Given the description of an element on the screen output the (x, y) to click on. 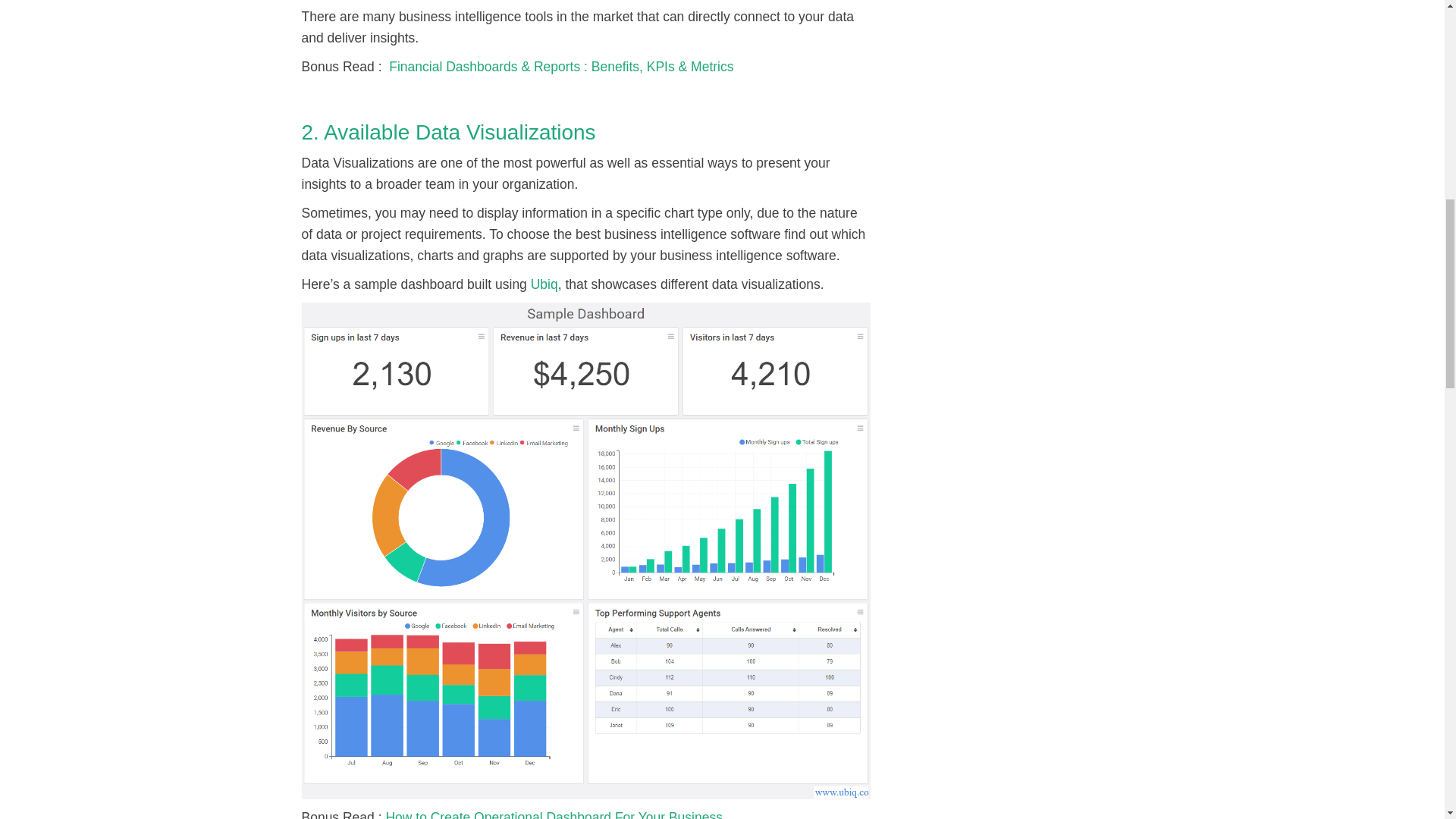
Ubiq (544, 283)
How to Create Operational Dashboard For Your Business (553, 814)
Advertisement (1029, 7)
